Given the description of an element on the screen output the (x, y) to click on. 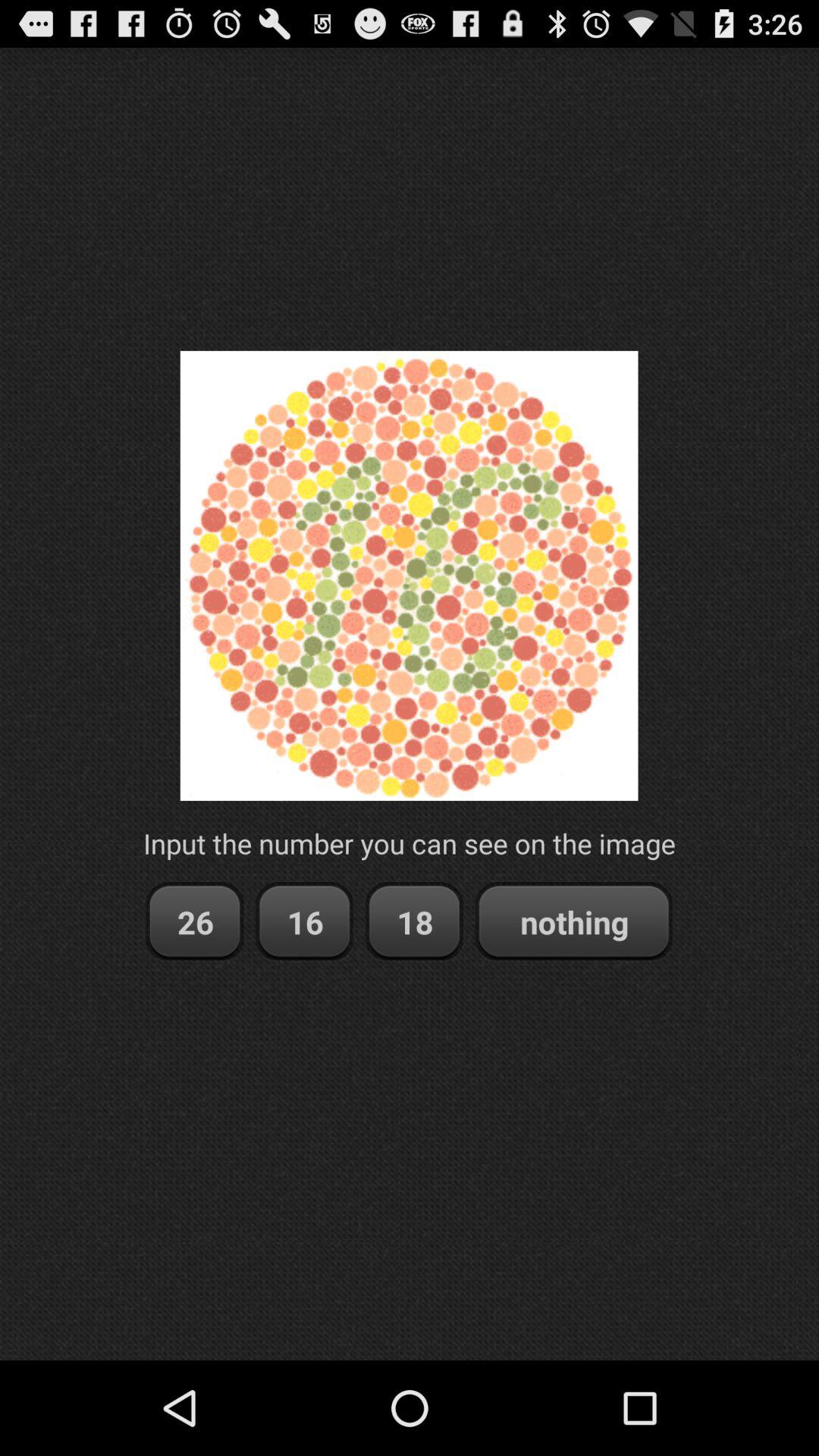
turn off the item below input the number item (194, 921)
